Given the description of an element on the screen output the (x, y) to click on. 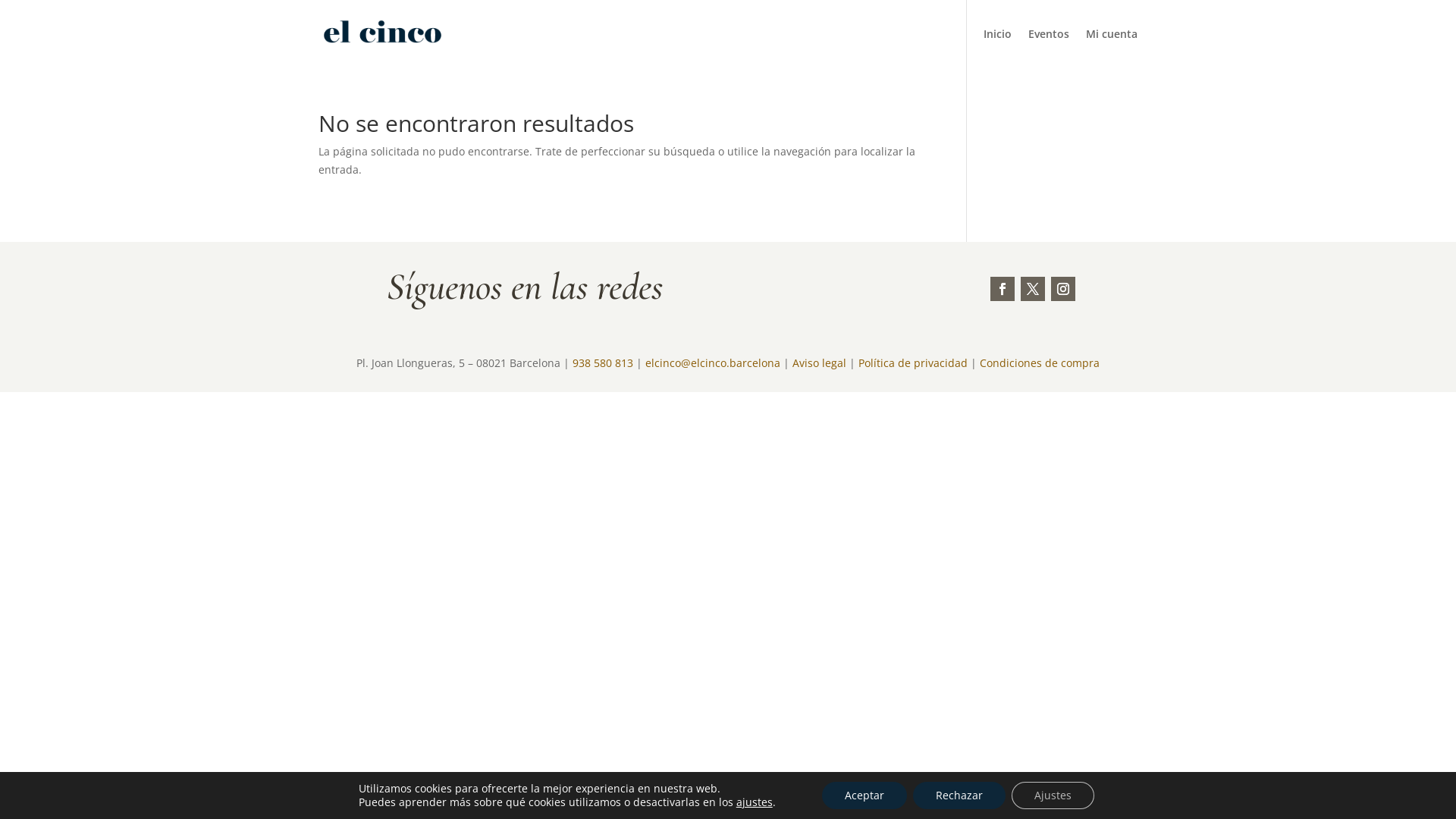
Condiciones de compra Element type: text (1039, 362)
Seguir en Facebook Element type: hover (1002, 288)
Seguir en Instagram Element type: hover (1063, 288)
Aceptar Element type: text (864, 795)
Ajustes Element type: text (1052, 795)
elcinco@elcinco.barcelona Element type: text (712, 362)
Rechazar Element type: text (959, 795)
938 580 813 Element type: text (602, 362)
ajustes Element type: text (754, 802)
Mi cuenta Element type: text (1111, 48)
Eventos Element type: text (1048, 48)
Aviso legal Element type: text (819, 362)
Seguir en X Element type: hover (1032, 288)
Inicio Element type: text (997, 48)
